Given the description of an element on the screen output the (x, y) to click on. 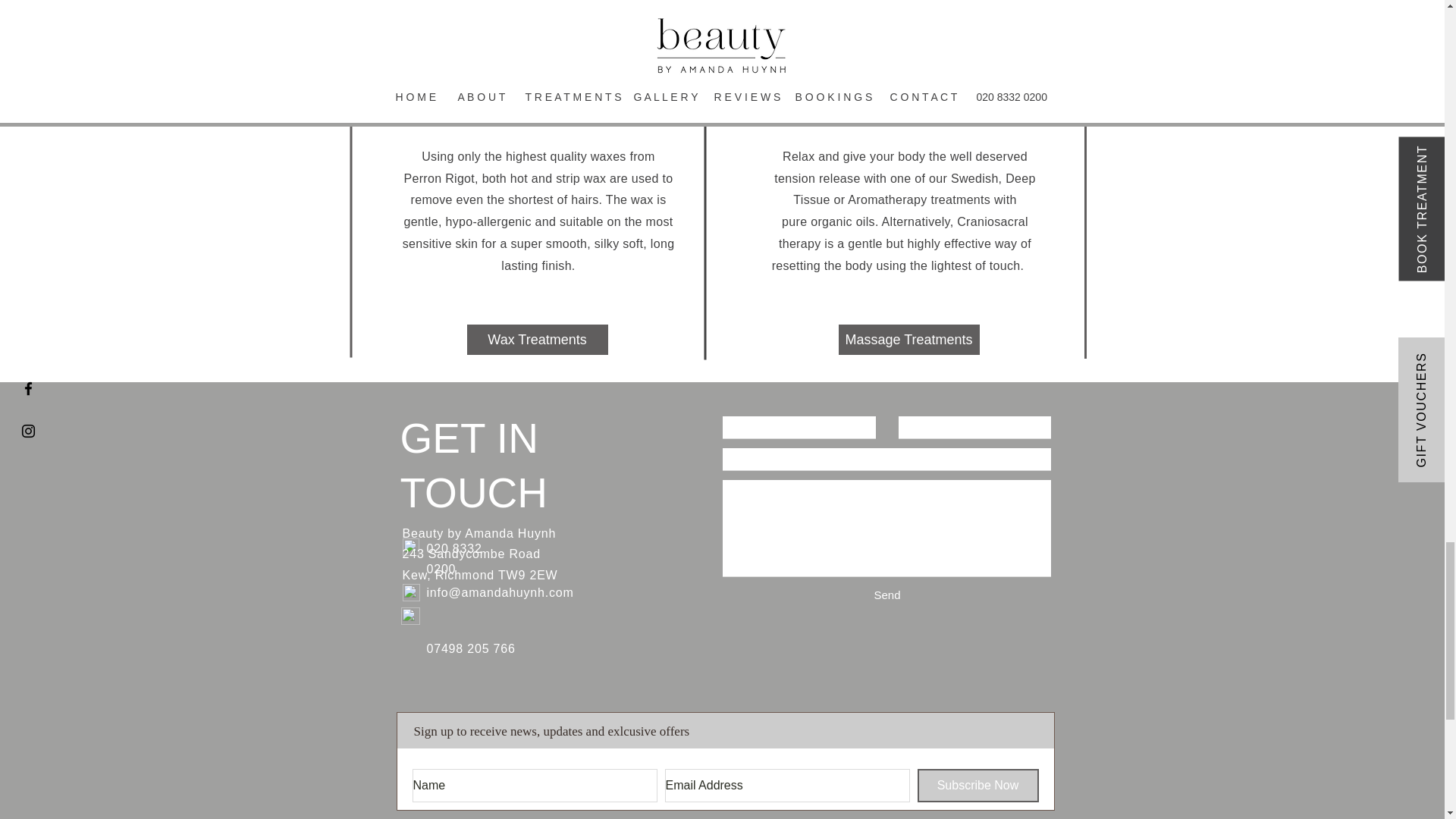
020 8332 0200  (453, 558)
Wax Treatments (537, 339)
Nail Treatments (536, 4)
Massage Treatments (908, 339)
Email (410, 592)
Whatsapp (409, 615)
Send (886, 594)
Face Treatments (907, 4)
Subscribe Now (978, 785)
07498 205 766 (470, 648)
